Given the description of an element on the screen output the (x, y) to click on. 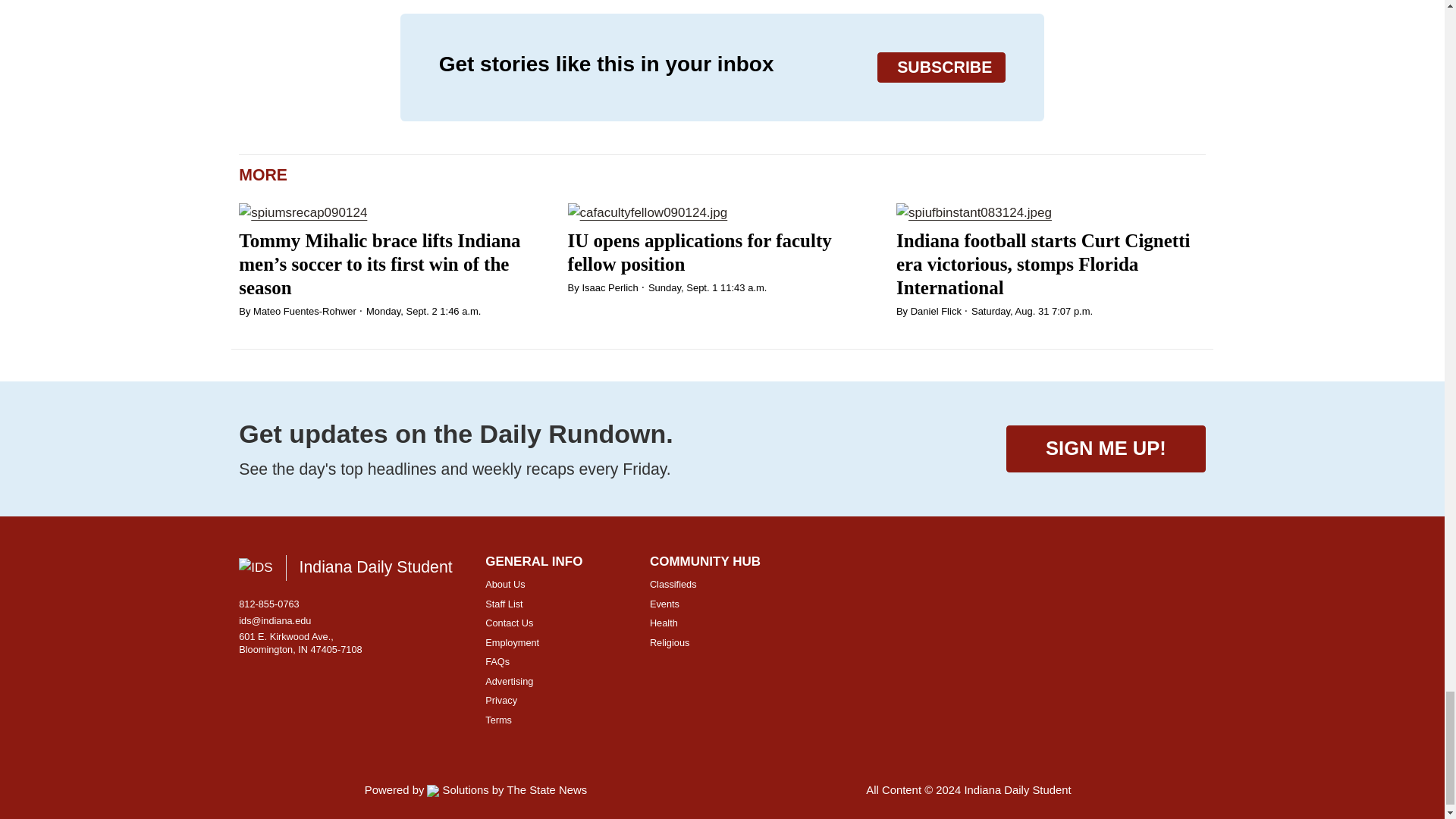
IU opens applications for faculty fellow position (722, 212)
IU opens applications for faculty fellow position (699, 252)
